Given the description of an element on the screen output the (x, y) to click on. 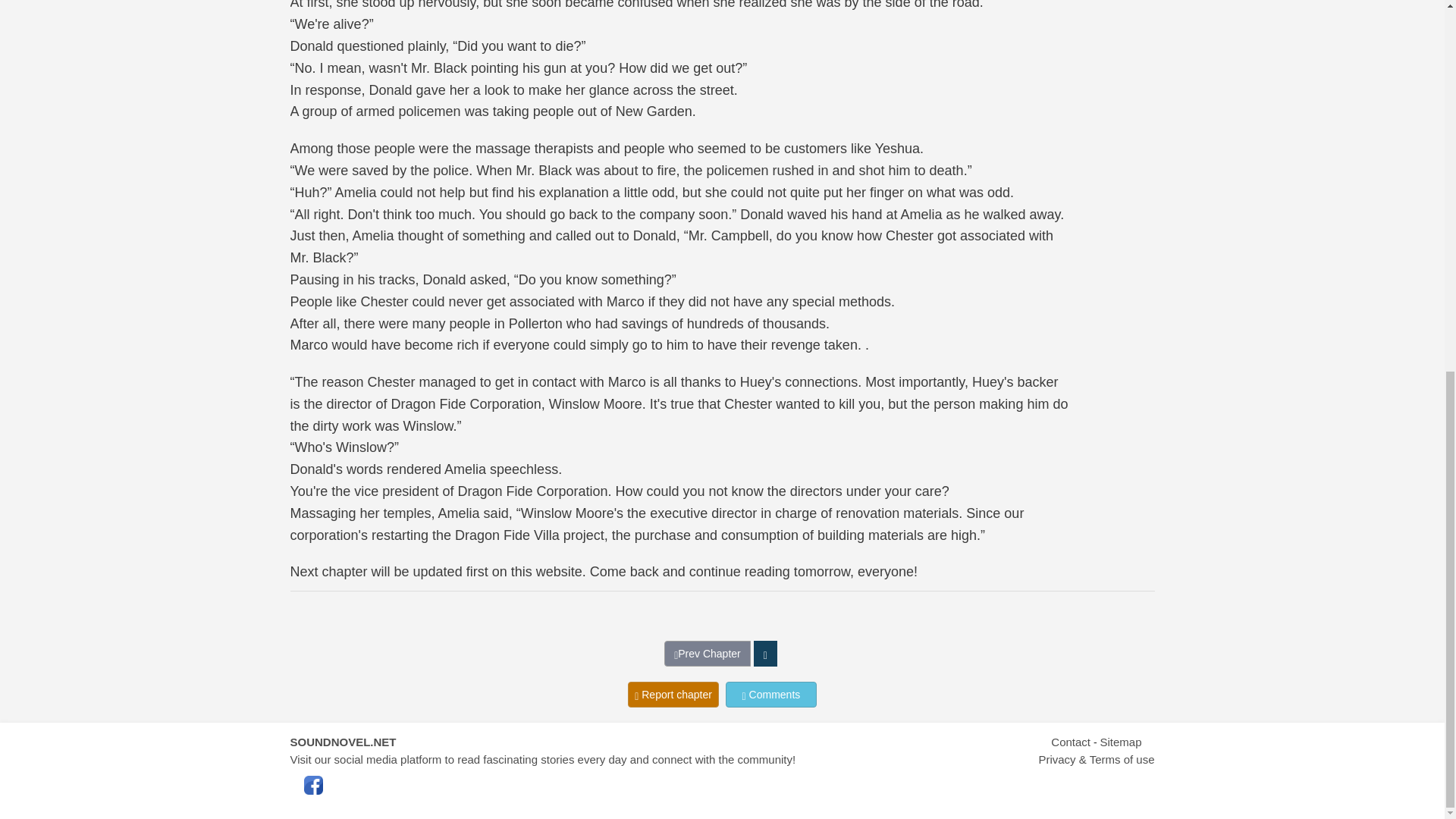
Sound Novel (342, 741)
Contact us (1070, 741)
Sitemap (1120, 741)
